Given the description of an element on the screen output the (x, y) to click on. 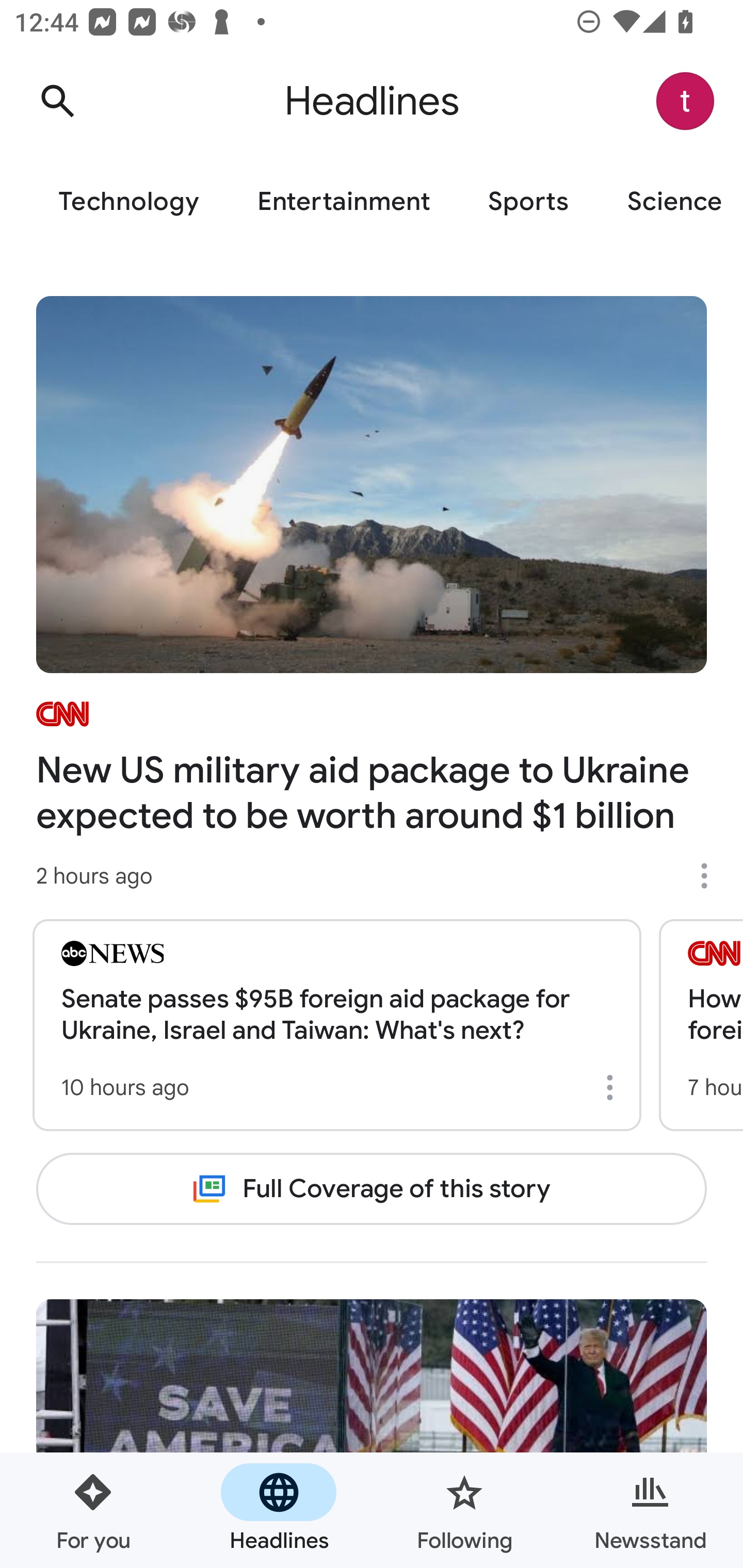
Search (57, 100)
Technology (128, 202)
Entertainment (343, 202)
Sports (528, 202)
Science (670, 202)
More options (711, 875)
More options (613, 1086)
Full Coverage of this story (371, 1188)
For you (92, 1509)
Headlines (278, 1509)
Following (464, 1509)
Newsstand (650, 1509)
